Given the description of an element on the screen output the (x, y) to click on. 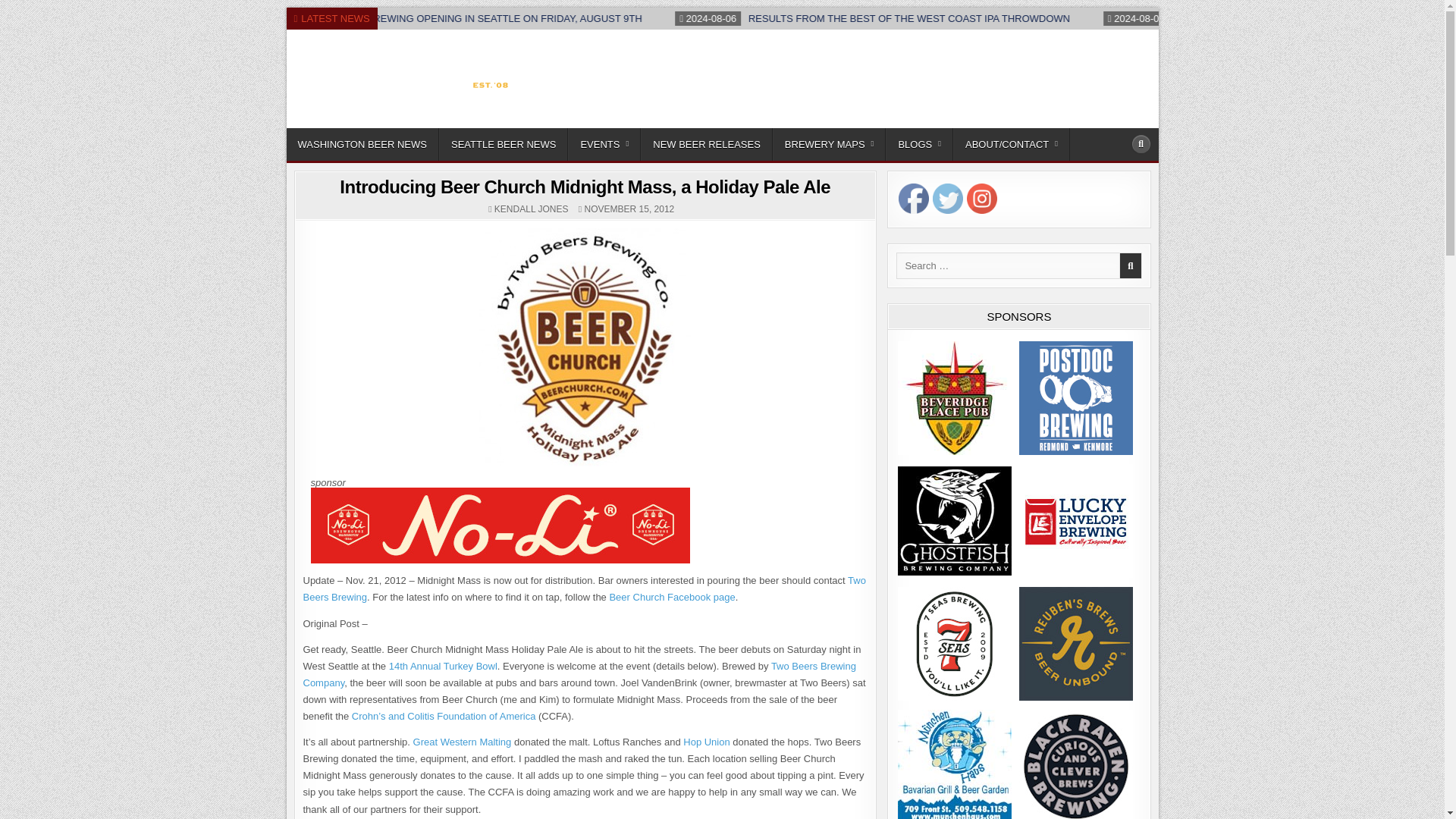
EVENTS (603, 143)
KENDALL JONES (532, 208)
Introducing Beer Church Midnight Mass, a Holiday Pale Ale (584, 186)
WASHINGTON BEER NEWS (362, 143)
NEW BEER RELEASES (706, 143)
BLOGS (919, 143)
SEATTLE BEER NEWS (503, 143)
The Washington Beer Blog (400, 124)
